Given the description of an element on the screen output the (x, y) to click on. 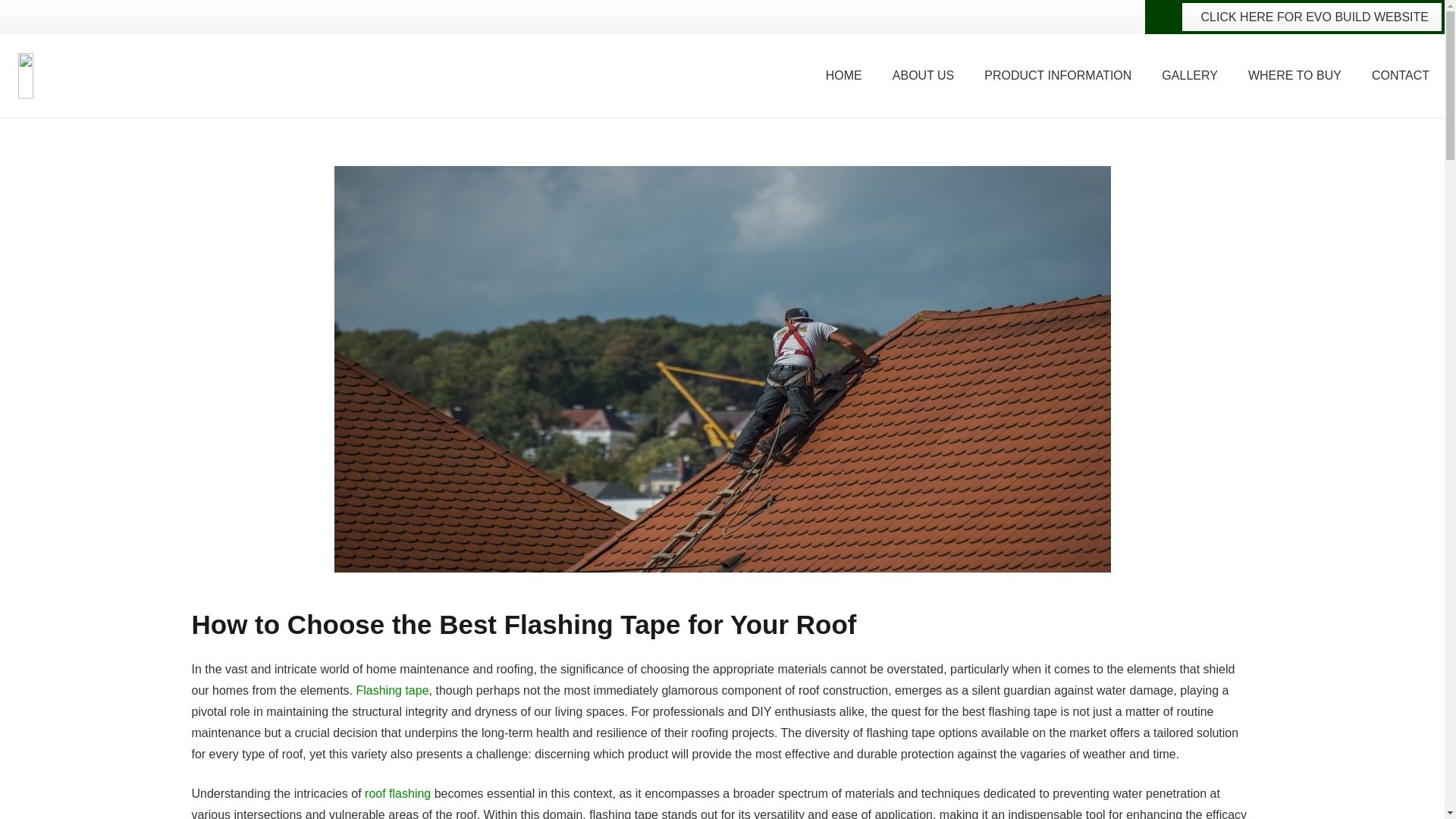
WHERE TO BUY (1294, 75)
roof flashing (397, 793)
GALLERY (1190, 75)
Flashing tape (391, 689)
PRODUCT INFORMATION (1058, 75)
ABOUT US (923, 75)
